Given the description of an element on the screen output the (x, y) to click on. 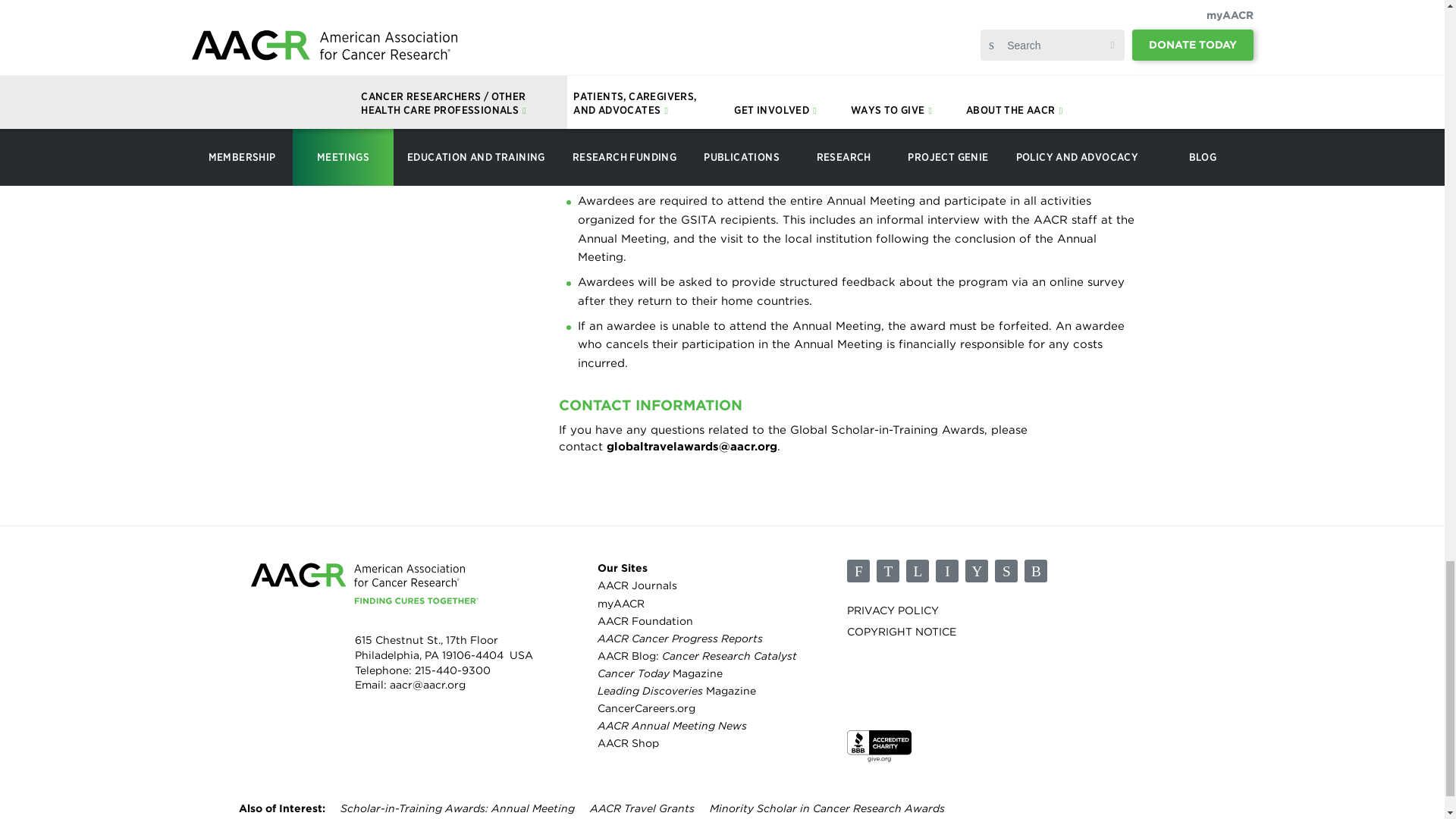
YouTube (976, 570)
LinkedIn (916, 570)
Snapchat (1005, 570)
Blog (1035, 570)
Twitter (887, 570)
Facebook (858, 570)
Instagram (947, 570)
